Given the description of an element on the screen output the (x, y) to click on. 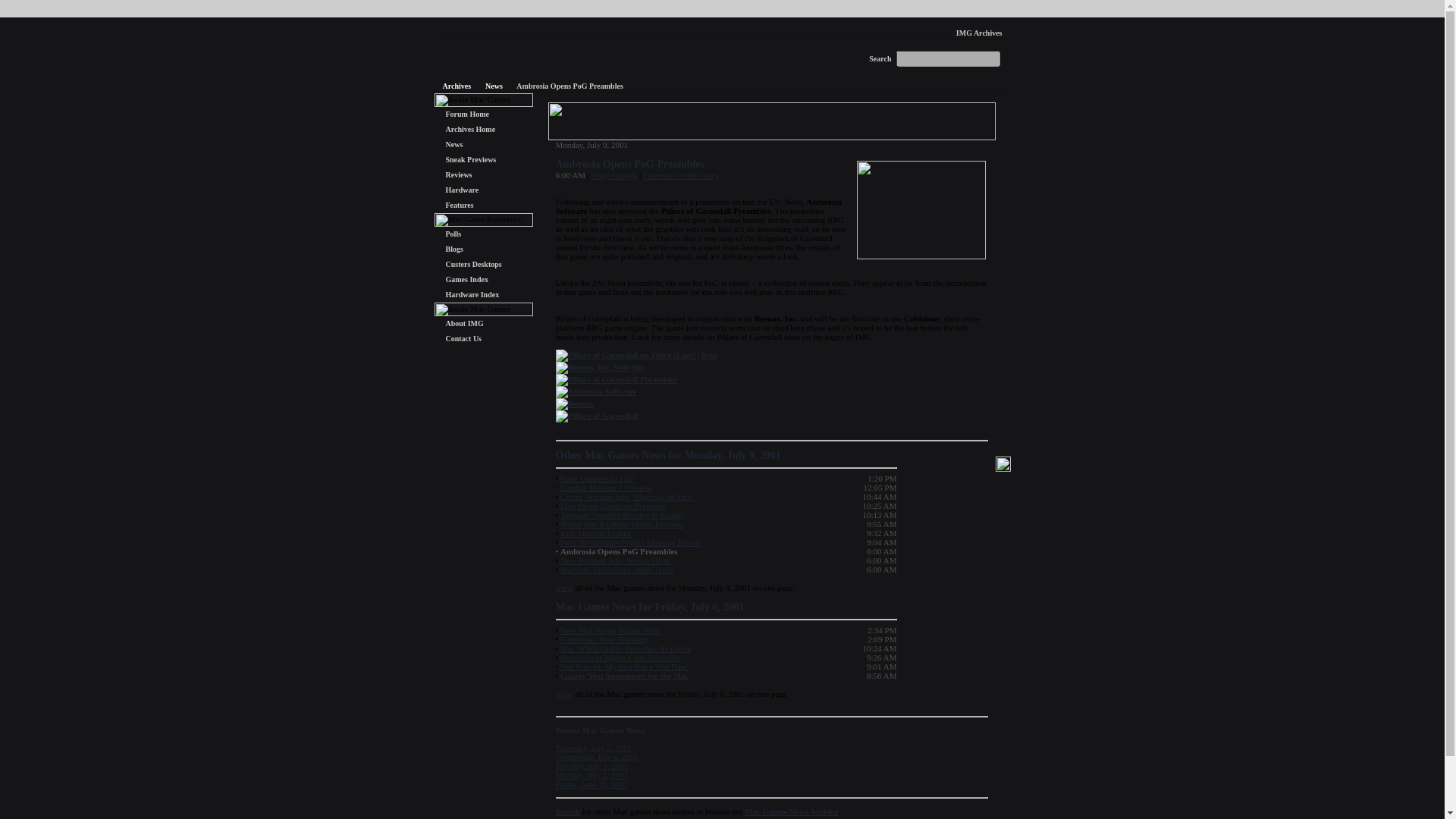
Archives (456, 85)
Pillars of Garendall (602, 415)
Reviews (458, 174)
Games Index (466, 279)
Combat Mission 2 Preview (605, 487)
New Reprisal Info, Screen Shots (614, 560)
Topware Troubles Resolve in Reality (622, 514)
Beenox, Inc. Web Site (606, 366)
Max Payne Hands-on Previews (612, 505)
Andy Largent (614, 174)
